Given the description of an element on the screen output the (x, y) to click on. 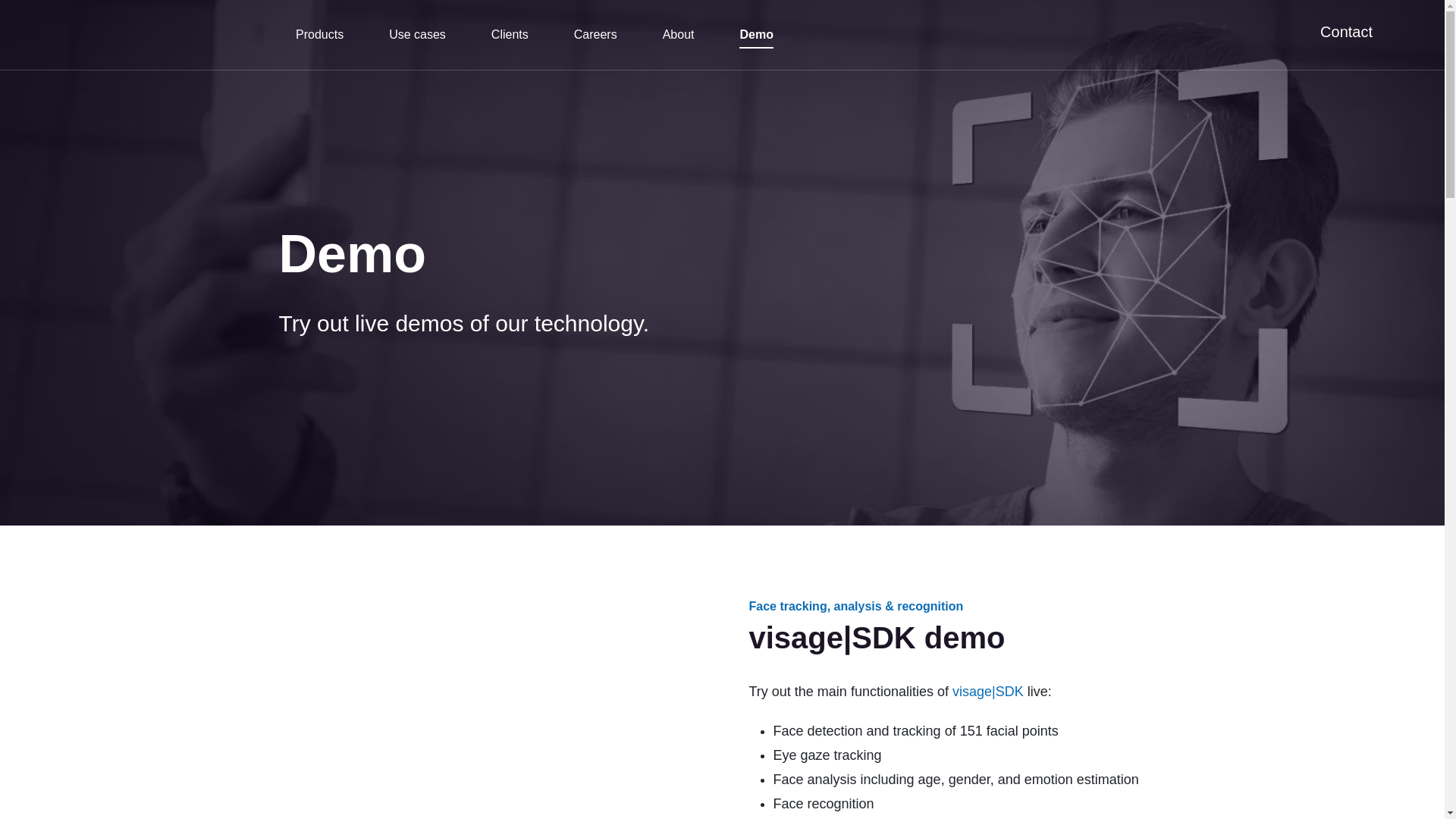
About (678, 34)
Contact (1346, 31)
Products (319, 34)
Careers (595, 34)
Use cases (416, 34)
Clients (510, 34)
Demo (756, 34)
